Given the description of an element on the screen output the (x, y) to click on. 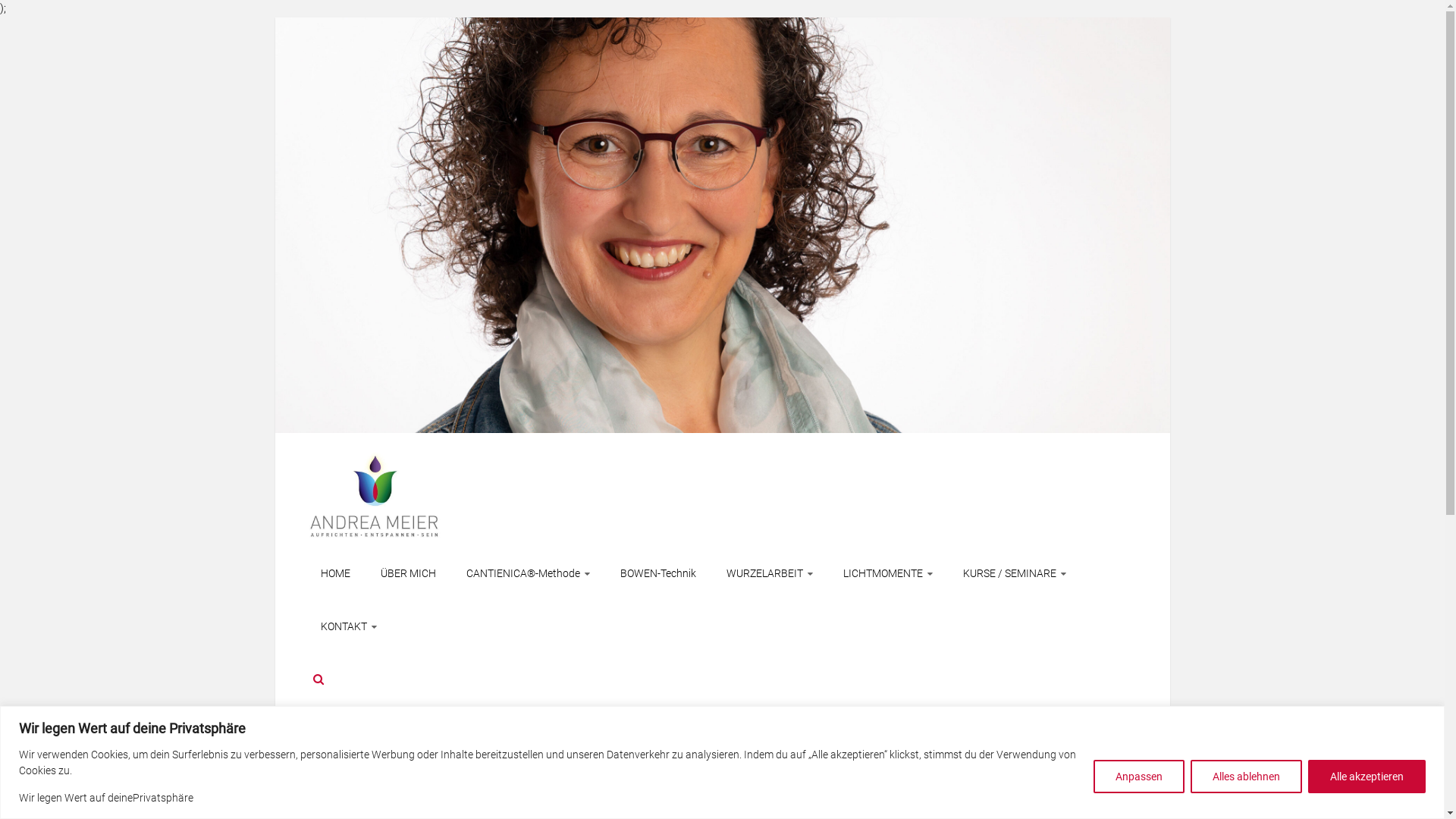
KURSE / SEMINARE Element type: text (1014, 572)
KONTAKT Element type: text (348, 625)
Alles ablehnen Element type: text (1246, 776)
ANDREA MEIER Element type: hover (721, 224)
Alle akzeptieren Element type: text (1366, 776)
BOWEN-Technik Element type: text (658, 572)
Anpassen Element type: text (1138, 776)
LICHTMOMENTE Element type: text (887, 572)
WURZELARBEIT Element type: text (769, 572)
Skip to content Element type: text (274, 16)
HOME Element type: text (334, 572)
